Given the description of an element on the screen output the (x, y) to click on. 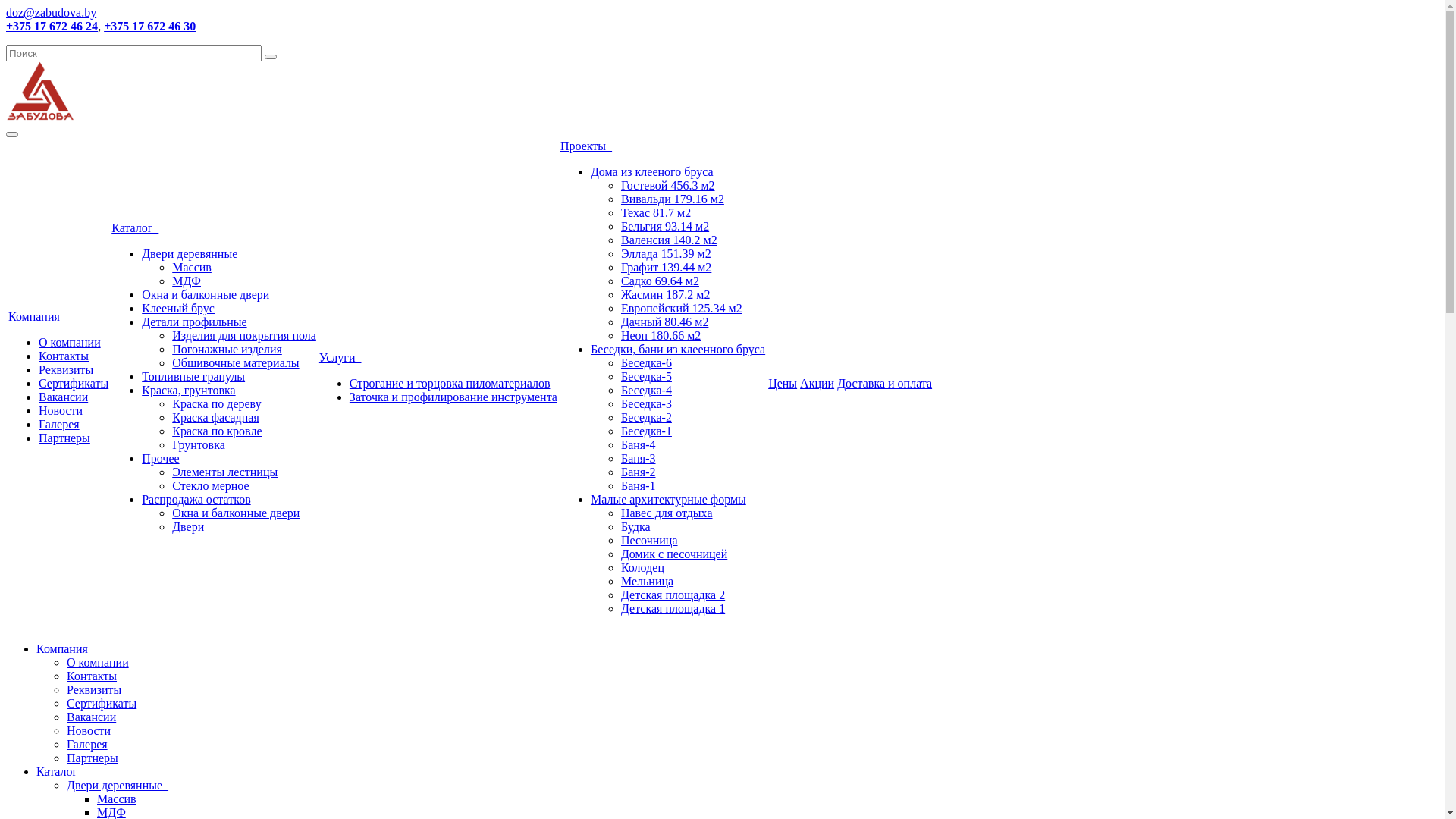
doz@zabudova.by Element type: text (51, 12)
+375 17 672 46 24 Element type: text (51, 25)
logo.png Element type: hover (40, 90)
+375 17 672 46 30 Element type: text (149, 25)
